Given the description of an element on the screen output the (x, y) to click on. 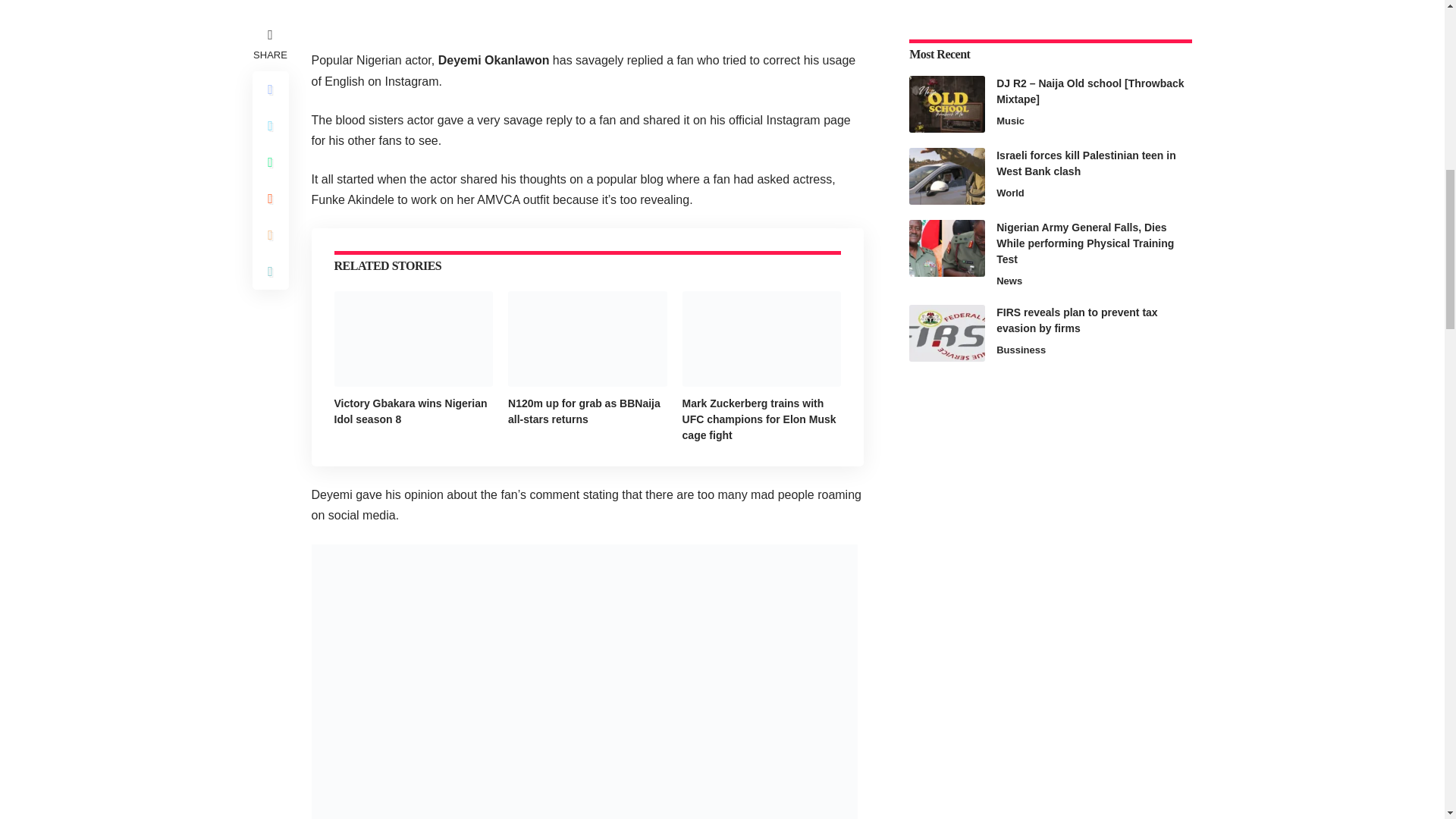
N120m up for grab as BBNaija all-stars returns (587, 338)
